Given the description of an element on the screen output the (x, y) to click on. 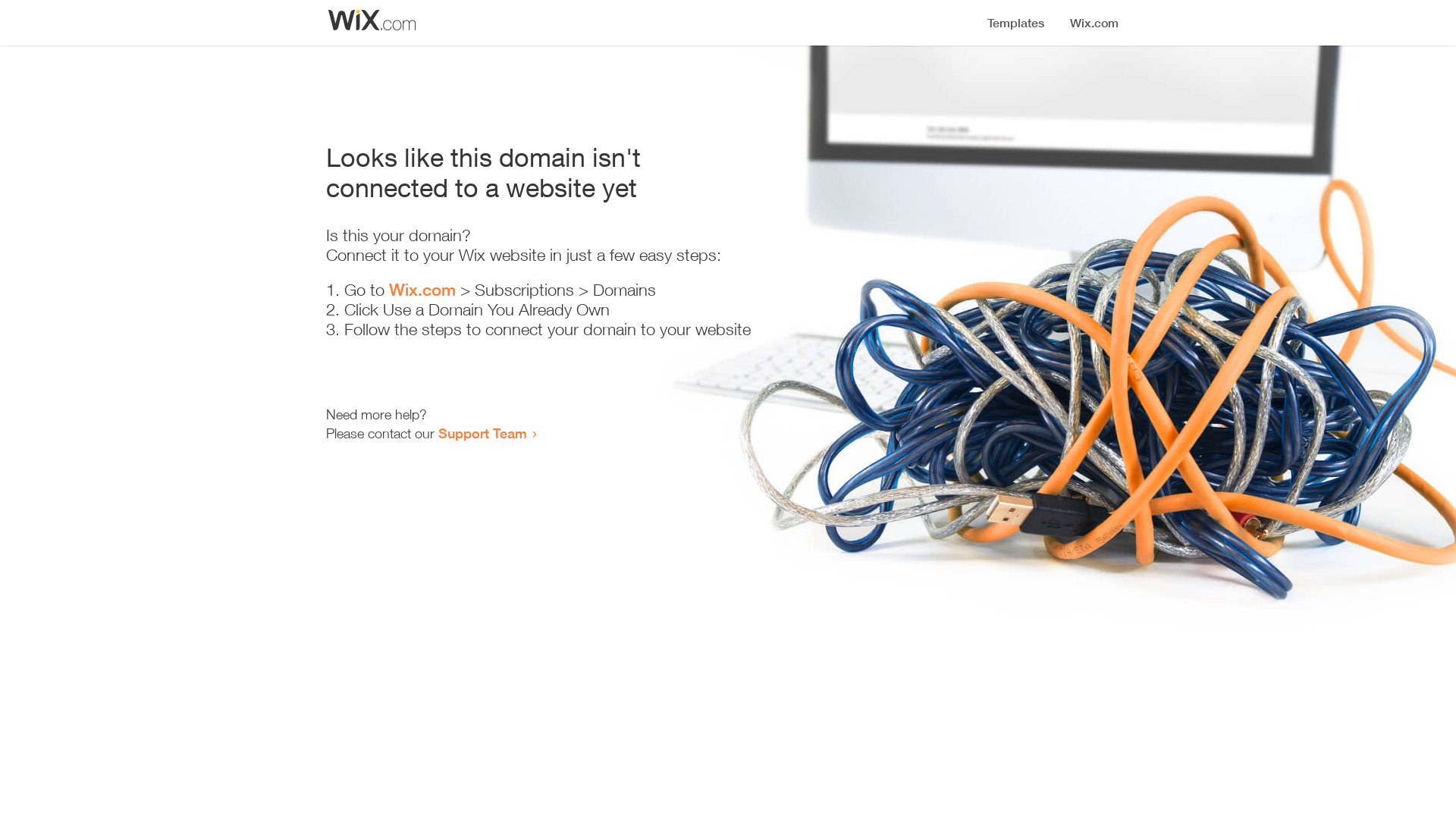
Support Team Element type: text (482, 432)
Wix.com Element type: text (422, 289)
